Given the description of an element on the screen output the (x, y) to click on. 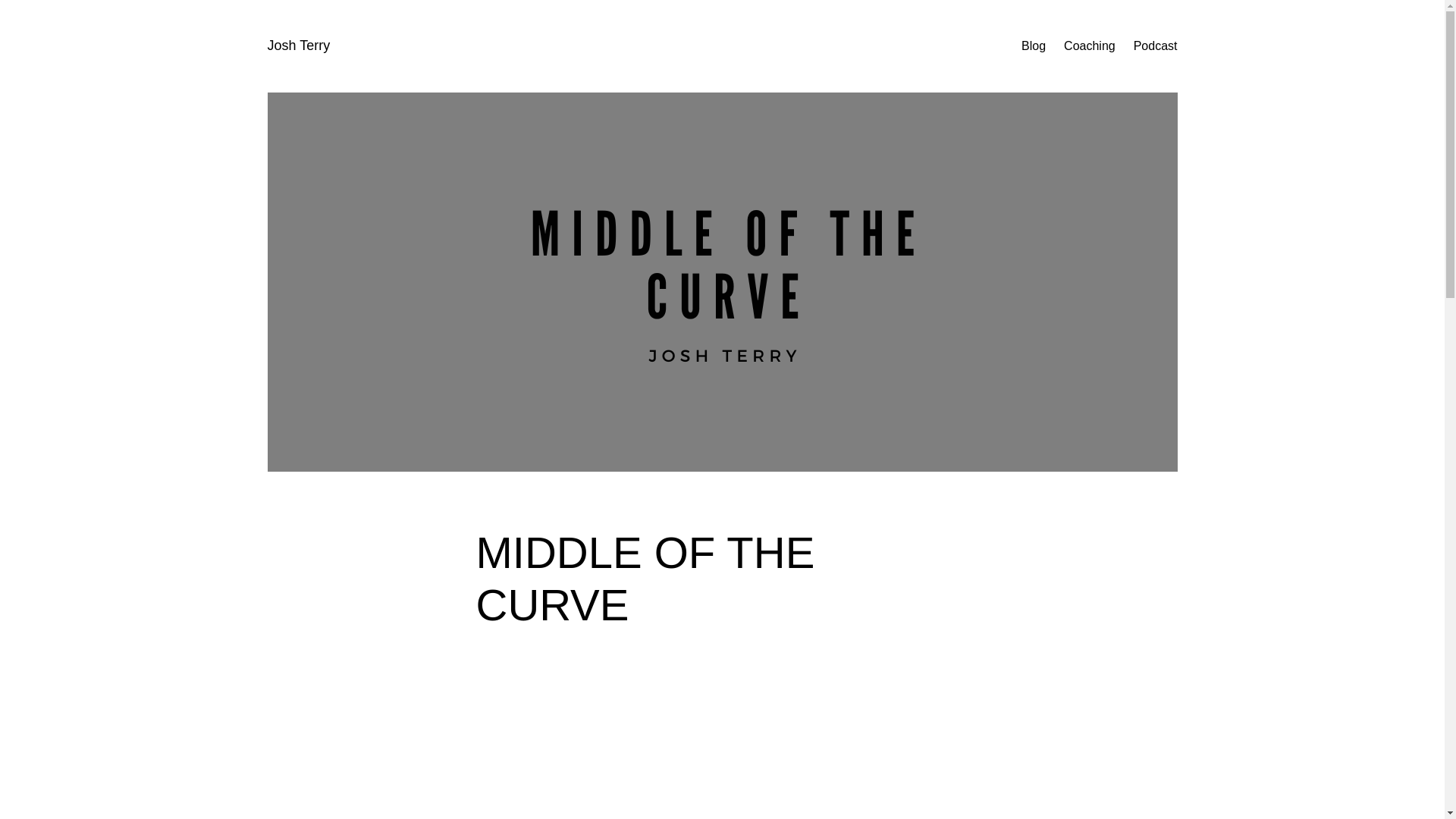
Coaching (1089, 46)
Blog (1033, 46)
Josh Terry (298, 45)
Podcast (1155, 46)
